Given the description of an element on the screen output the (x, y) to click on. 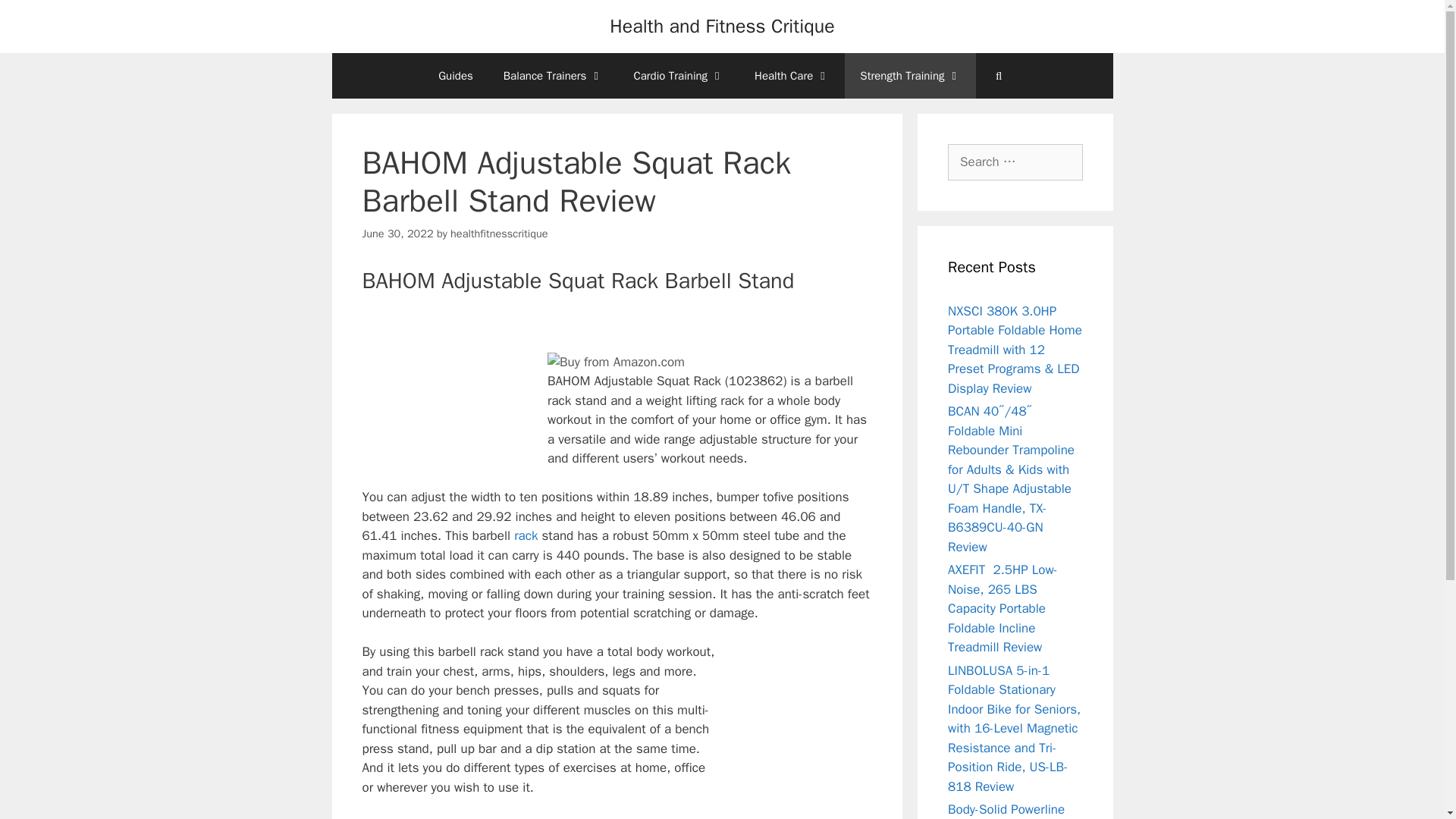
Cardio Training (678, 75)
Buy from Amazon.com (615, 362)
Balance Trainers (552, 75)
Search for: (1015, 162)
Health and Fitness Critique (722, 25)
Guides (455, 75)
Strength Training (909, 75)
Health Care (791, 75)
View all posts by healthfitnesscritique (498, 233)
